Given the description of an element on the screen output the (x, y) to click on. 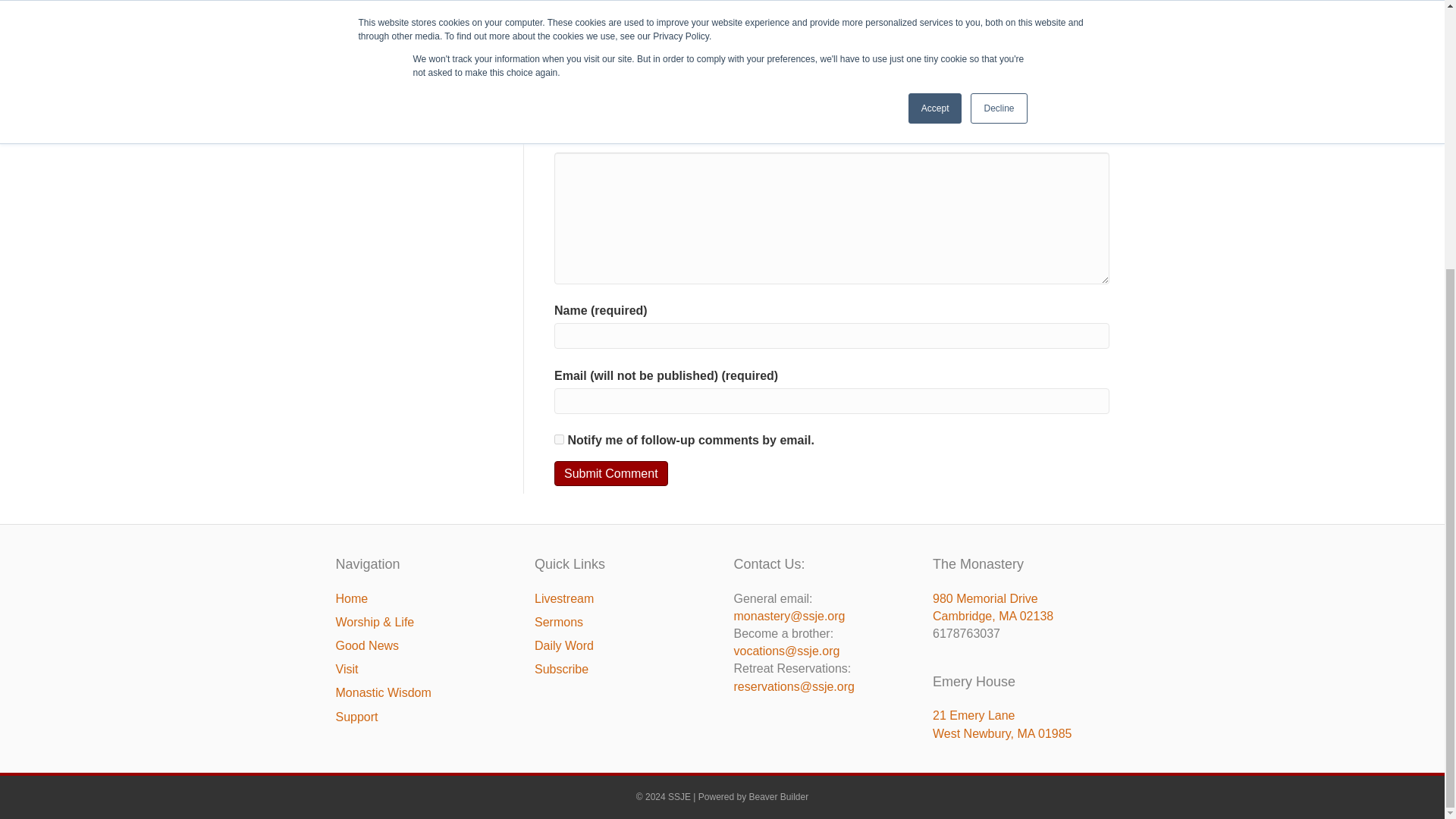
subscribe (559, 439)
WordPress Page Builder Plugin (779, 796)
Submit Comment (611, 473)
